Given the description of an element on the screen output the (x, y) to click on. 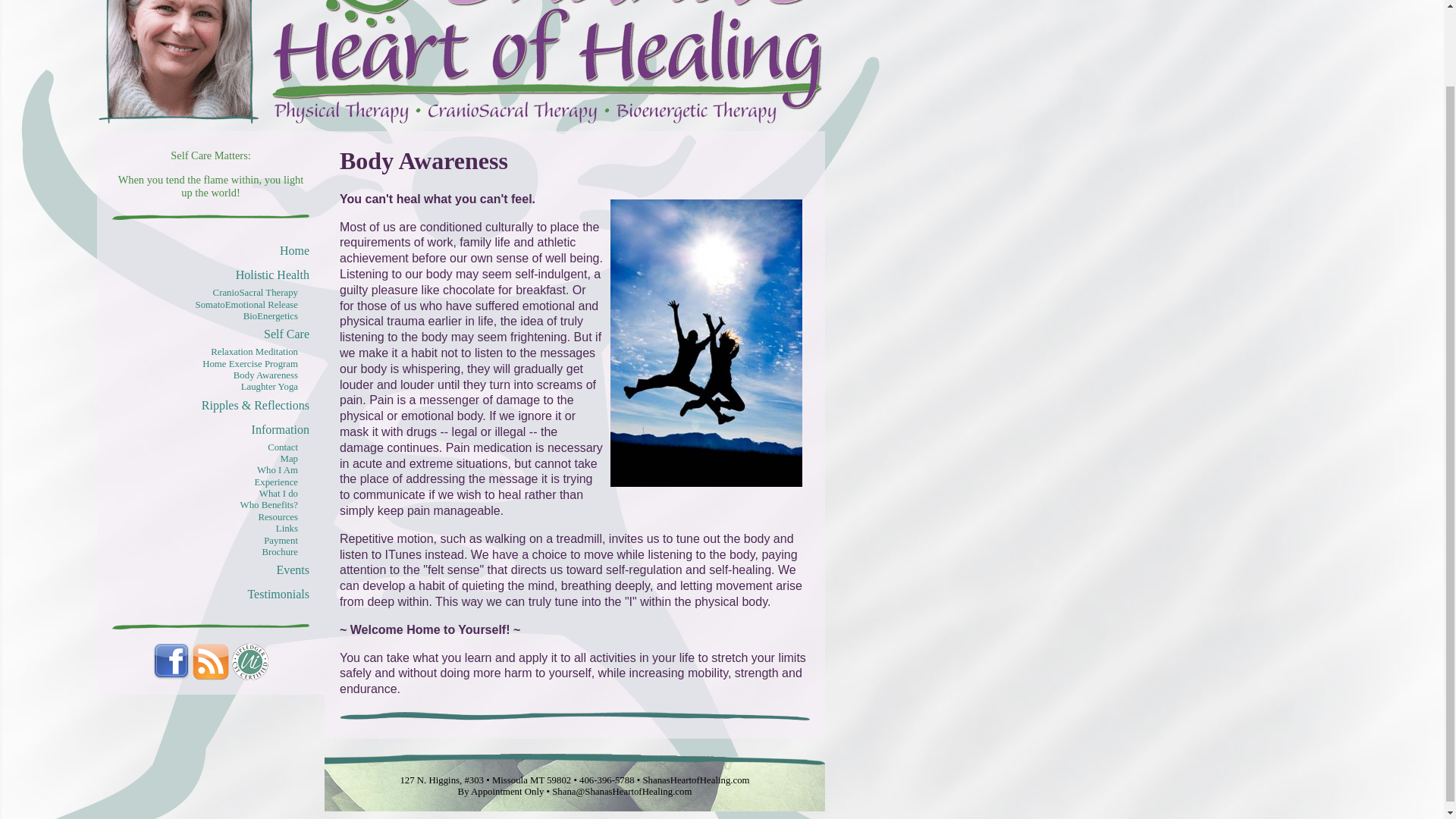
SomatoEmotional Release (246, 304)
Events (292, 569)
Relaxation Meditation (254, 351)
Testimonials (277, 594)
Laughter Yoga (269, 386)
Who I Am (277, 470)
BioEnergetics (270, 316)
Resources (277, 516)
Links (287, 528)
CranioSacral Therapy (255, 292)
Who Benefits? (269, 504)
Payment (280, 540)
Contact (282, 447)
Brochure (280, 552)
What I do (278, 493)
